Given the description of an element on the screen output the (x, y) to click on. 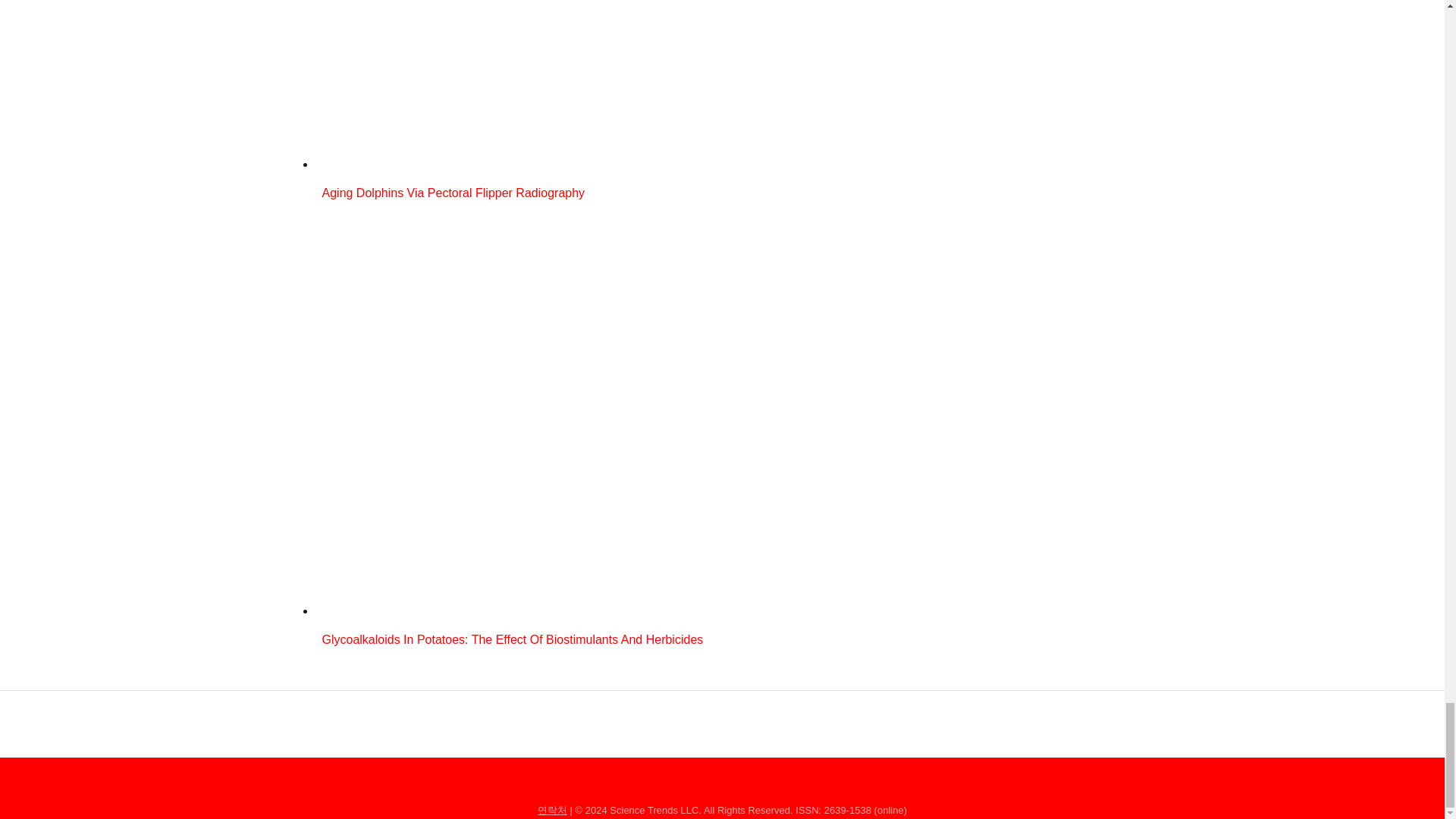
Aging Dolphins Via Pectoral Flipper Radiography (616, 195)
Aging Dolphins Via Pectoral Flipper Radiography (616, 164)
